Given the description of an element on the screen output the (x, y) to click on. 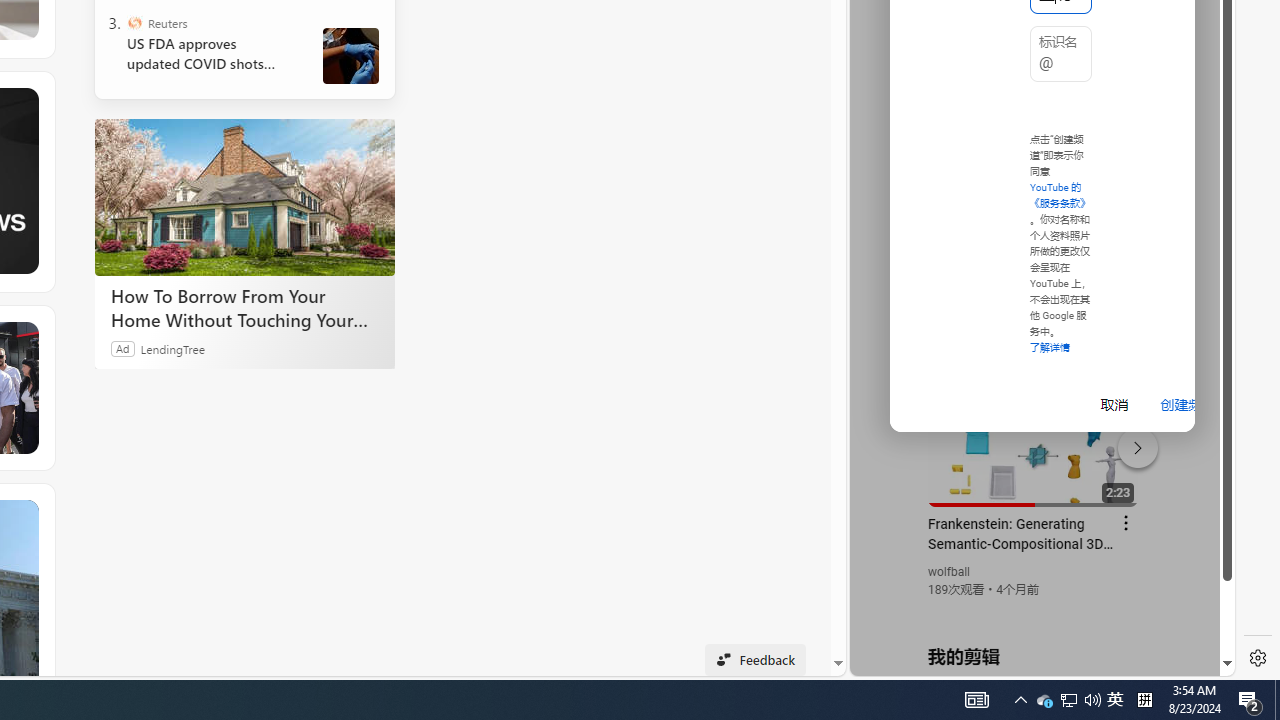
Click to scroll right (1196, 83)
LendingTree (172, 348)
